Given the description of an element on the screen output the (x, y) to click on. 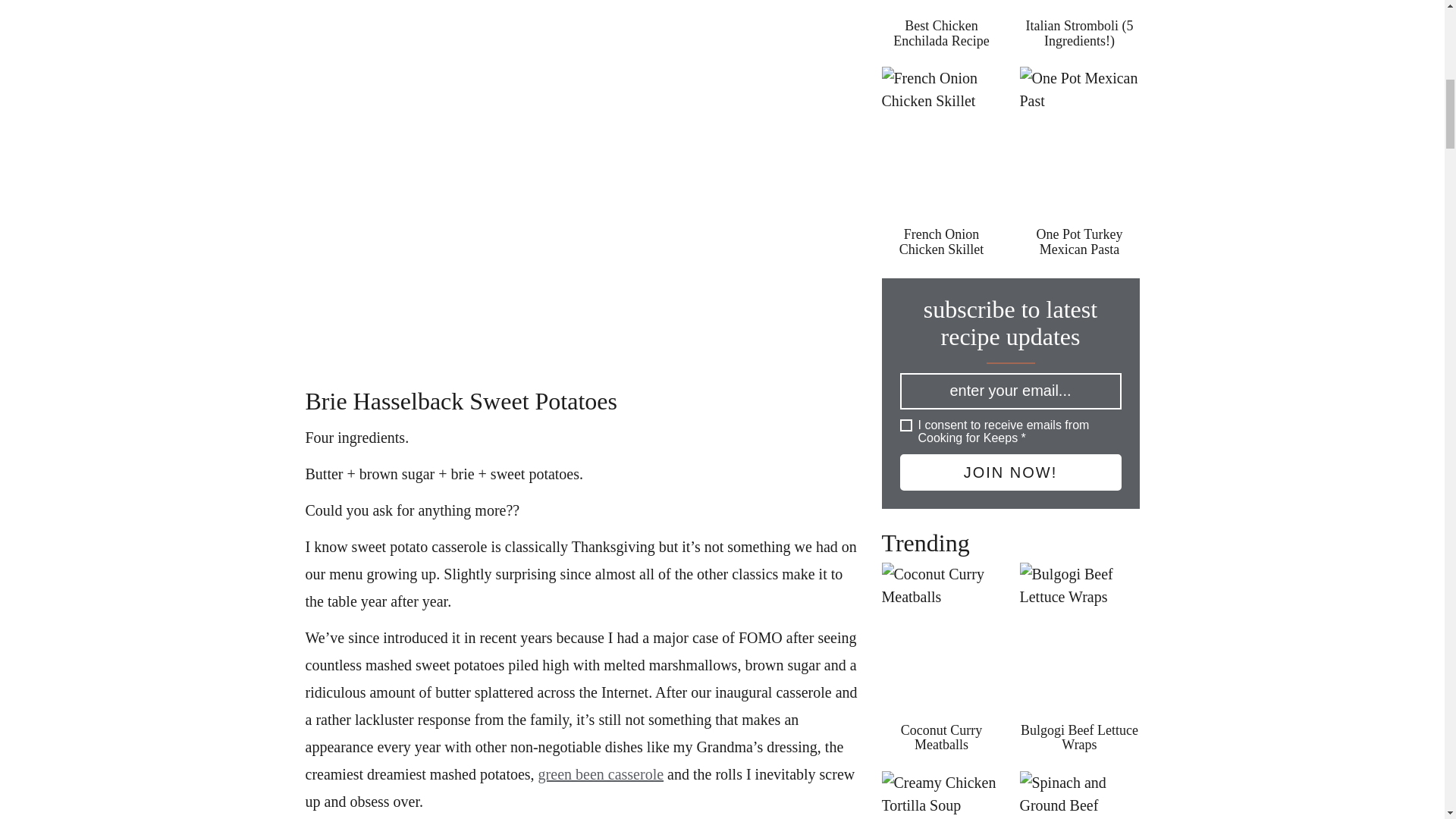
 I consent to receive emails from Cooking for Keeps (905, 425)
